Given the description of an element on the screen output the (x, y) to click on. 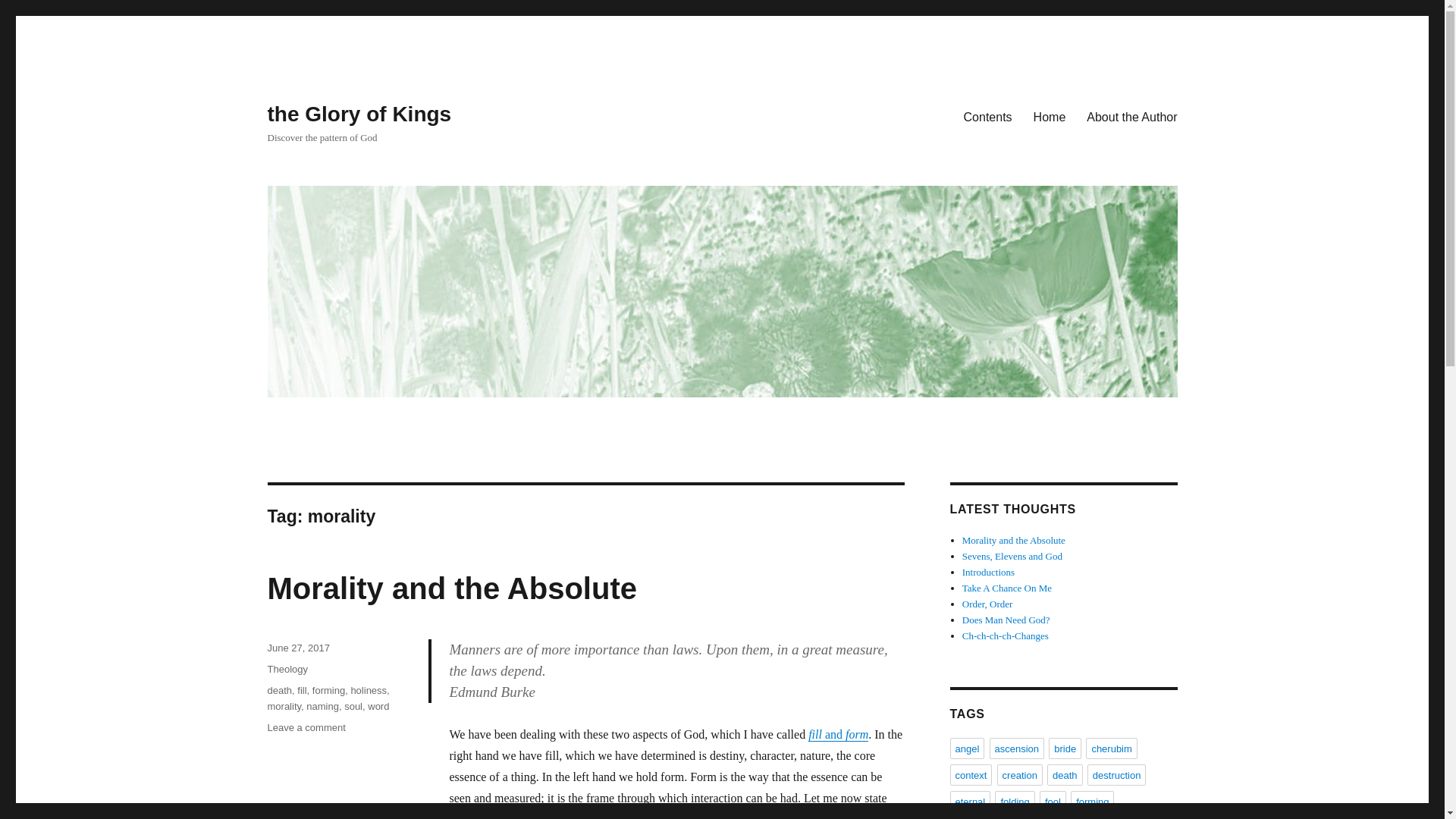
destruction (1117, 774)
About the Author (1131, 116)
fill and form (837, 734)
forming (329, 690)
death (279, 690)
Sevens, Elevens and God (1012, 555)
Ch-ch-ch-ch-Changes (1005, 635)
Morality and the Absolute (1013, 540)
holiness (368, 690)
soul (352, 706)
Morality and the Absolute (451, 588)
Introductions (988, 572)
Does Man Need God? (1005, 619)
Contents (988, 116)
angel (966, 748)
